Given the description of an element on the screen output the (x, y) to click on. 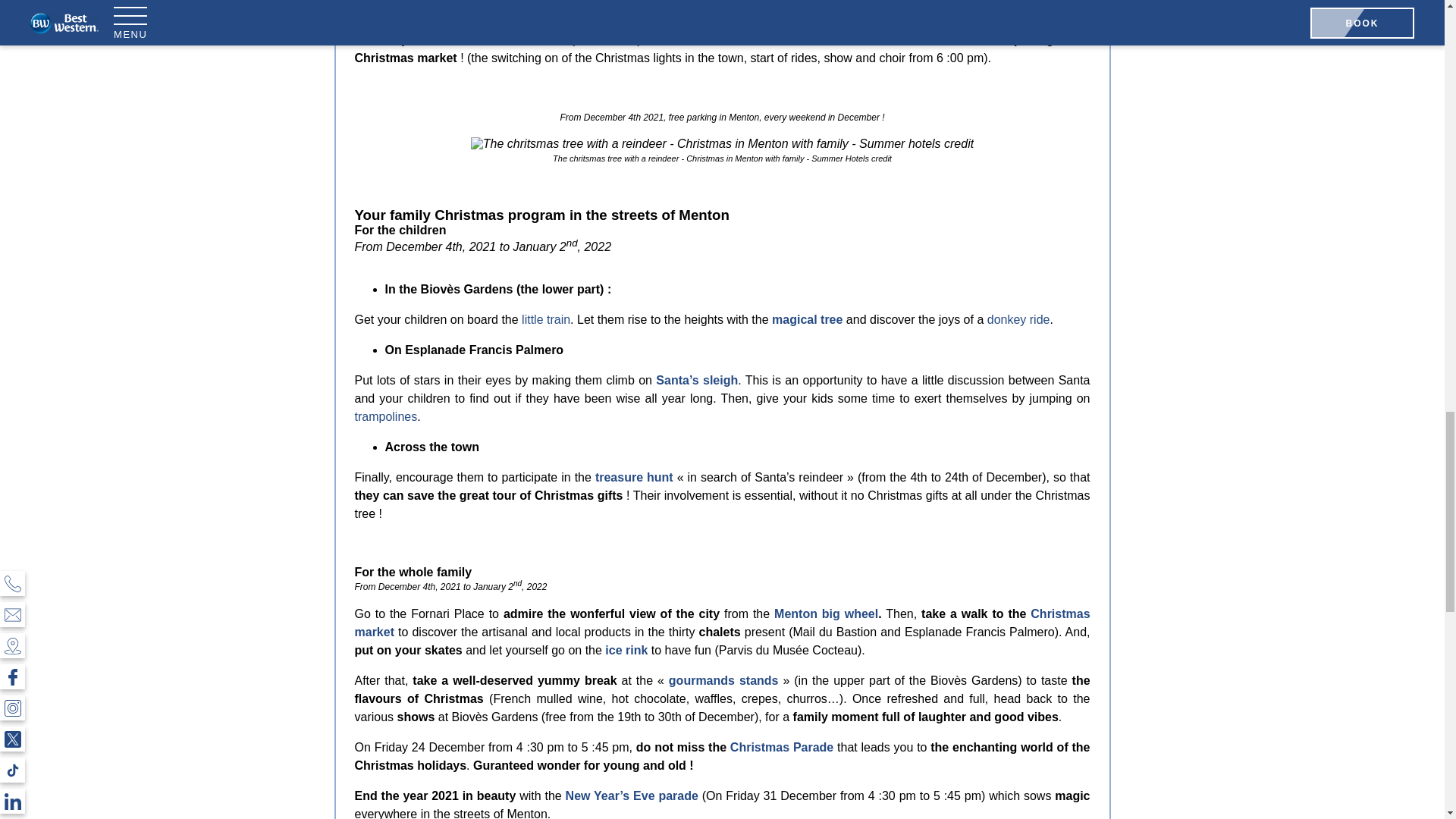
little train (545, 318)
treasure hunt (633, 477)
trampolines (386, 416)
gourmands stands  (725, 680)
Christmas Parade (781, 747)
magical tree (807, 318)
Menton big wheel (825, 613)
donkey ride (1018, 318)
Christmas market (722, 622)
ice rink (626, 649)
